Given the description of an element on the screen output the (x, y) to click on. 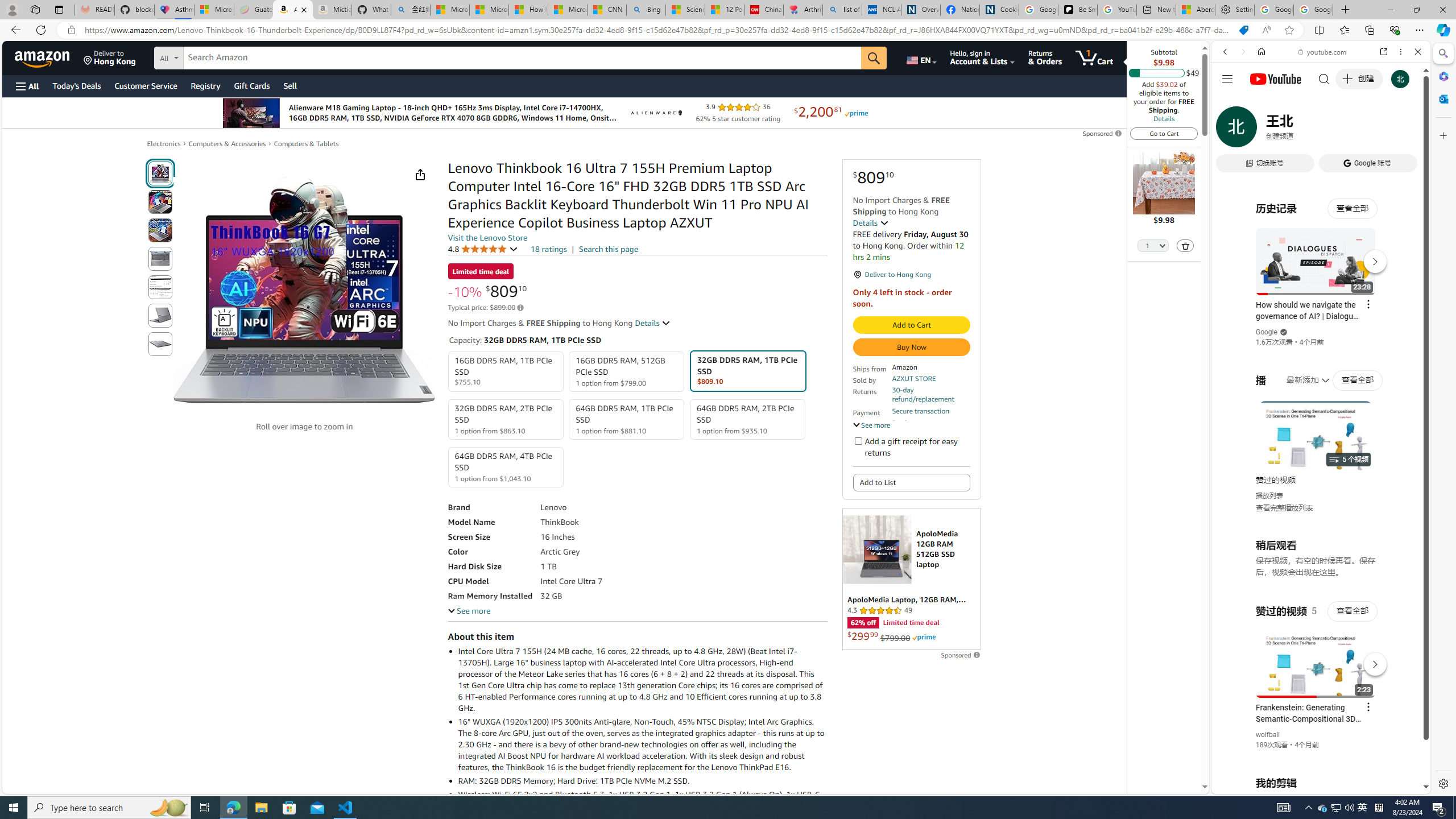
Music (1320, 309)
Search Filter, WEB (1230, 129)
Click to scroll right (1407, 456)
#you (1315, 659)
Microsoft 365 (1442, 76)
Show More Music (1390, 310)
